Given the description of an element on the screen output the (x, y) to click on. 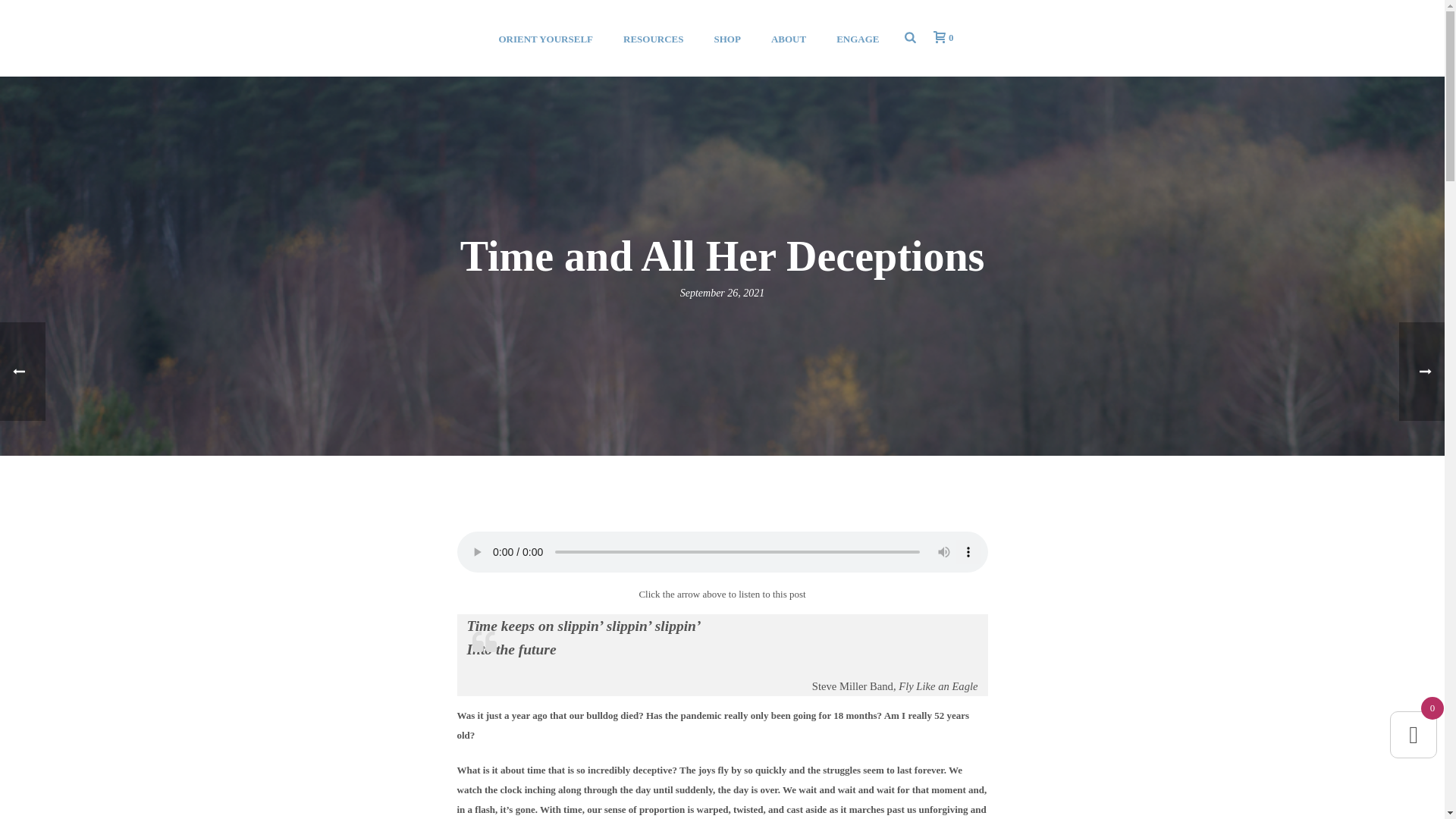
0 (939, 37)
RESOURCES (653, 38)
ORIENT YOURSELF (545, 38)
ENGAGE (857, 38)
ENGAGE (857, 38)
ORIENT YOURSELF (545, 38)
September 26, 2021 (722, 292)
RESOURCES (653, 38)
